Given the description of an element on the screen output the (x, y) to click on. 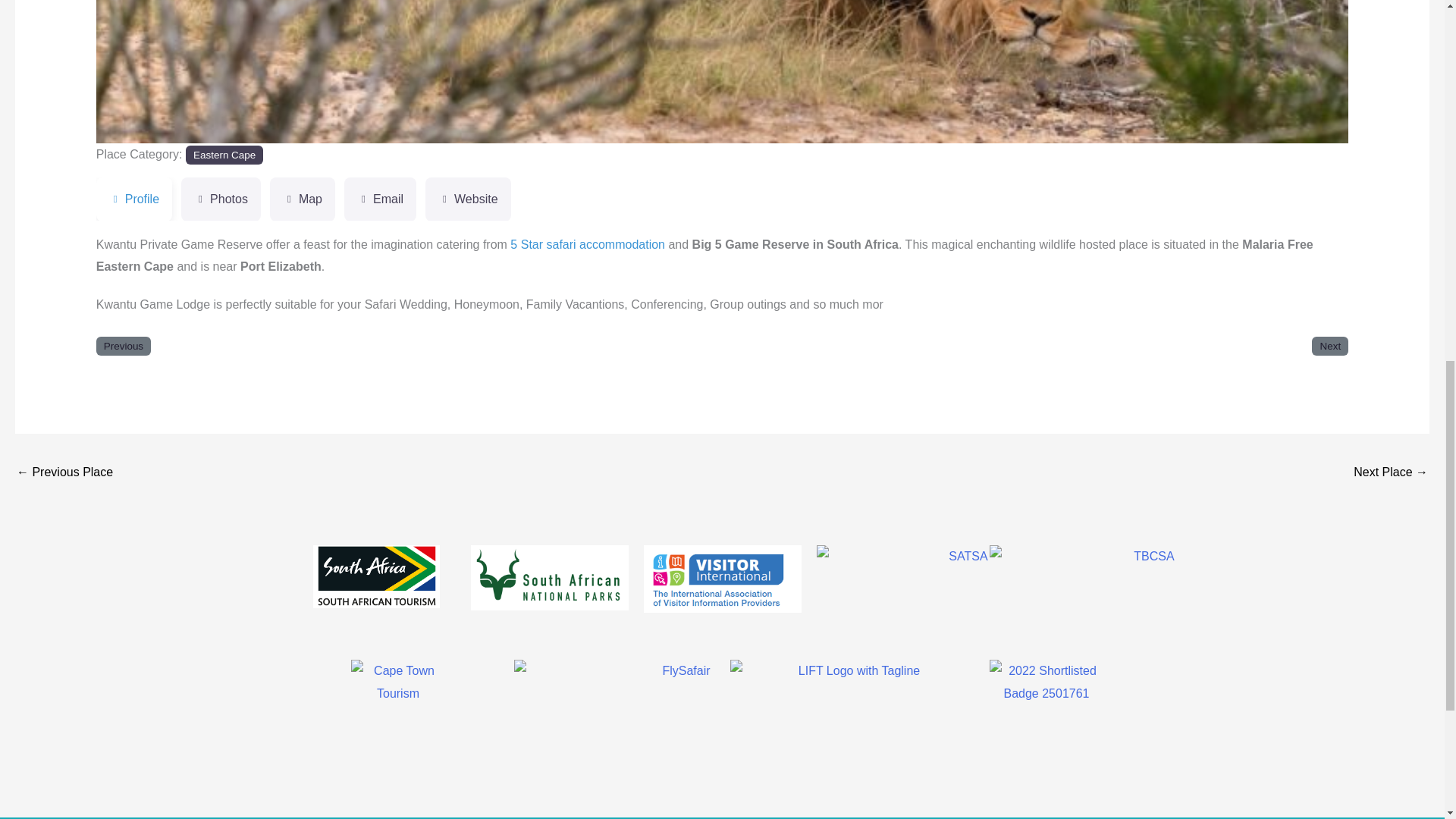
Email (379, 198)
Photos (220, 198)
De Vette Mossel Great Brak River (1391, 473)
Eastern Cape (224, 154)
Photos (220, 198)
Profile (133, 198)
Map (301, 198)
Al-Beit Lodge (64, 473)
Profile (133, 198)
Next (1254, 71)
